Given the description of an element on the screen output the (x, y) to click on. 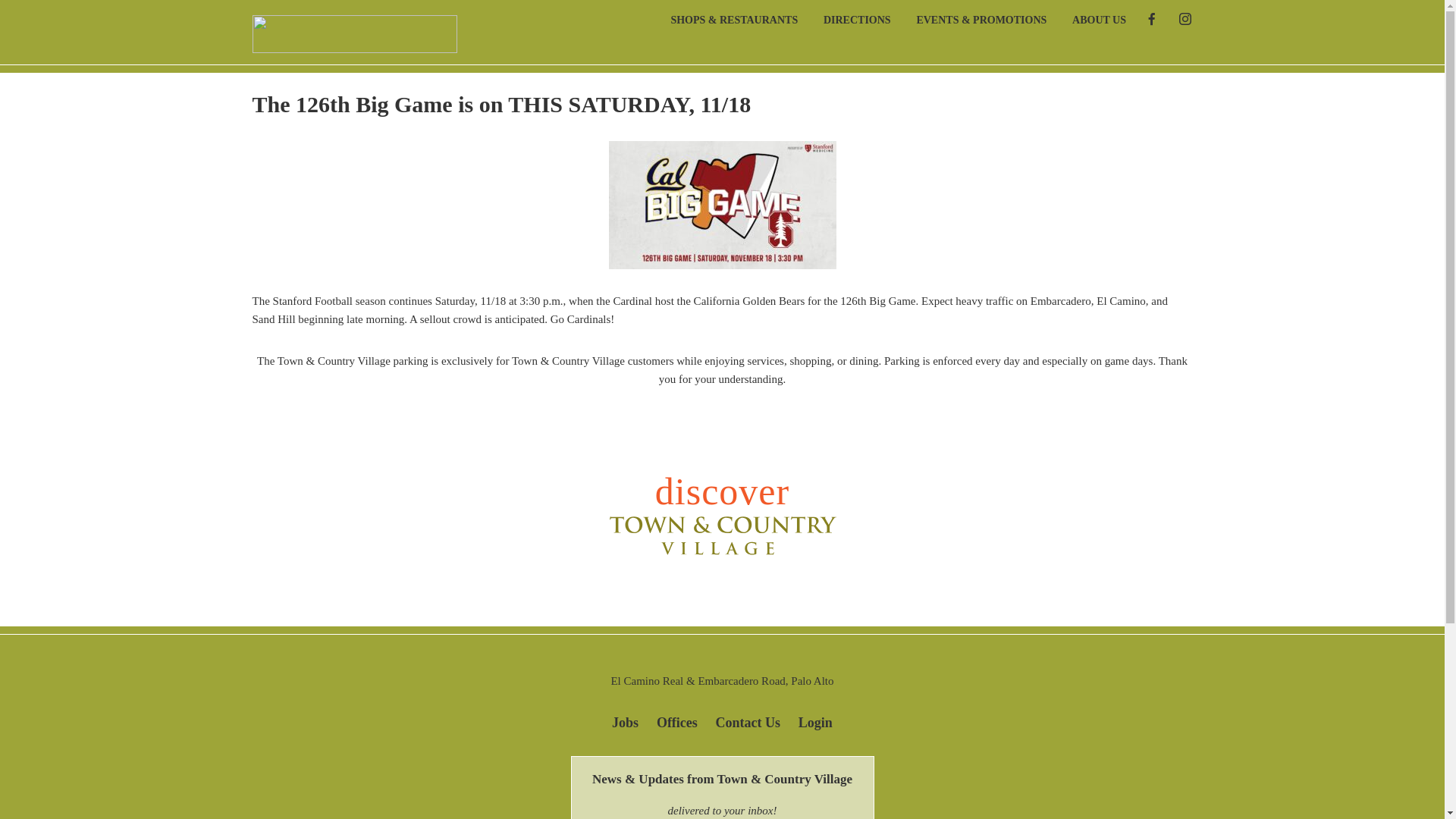
ABOUT US (1087, 17)
DIRECTIONS (845, 17)
Contact Us (748, 715)
Login (814, 715)
Offices (676, 715)
Jobs (625, 715)
